Given the description of an element on the screen output the (x, y) to click on. 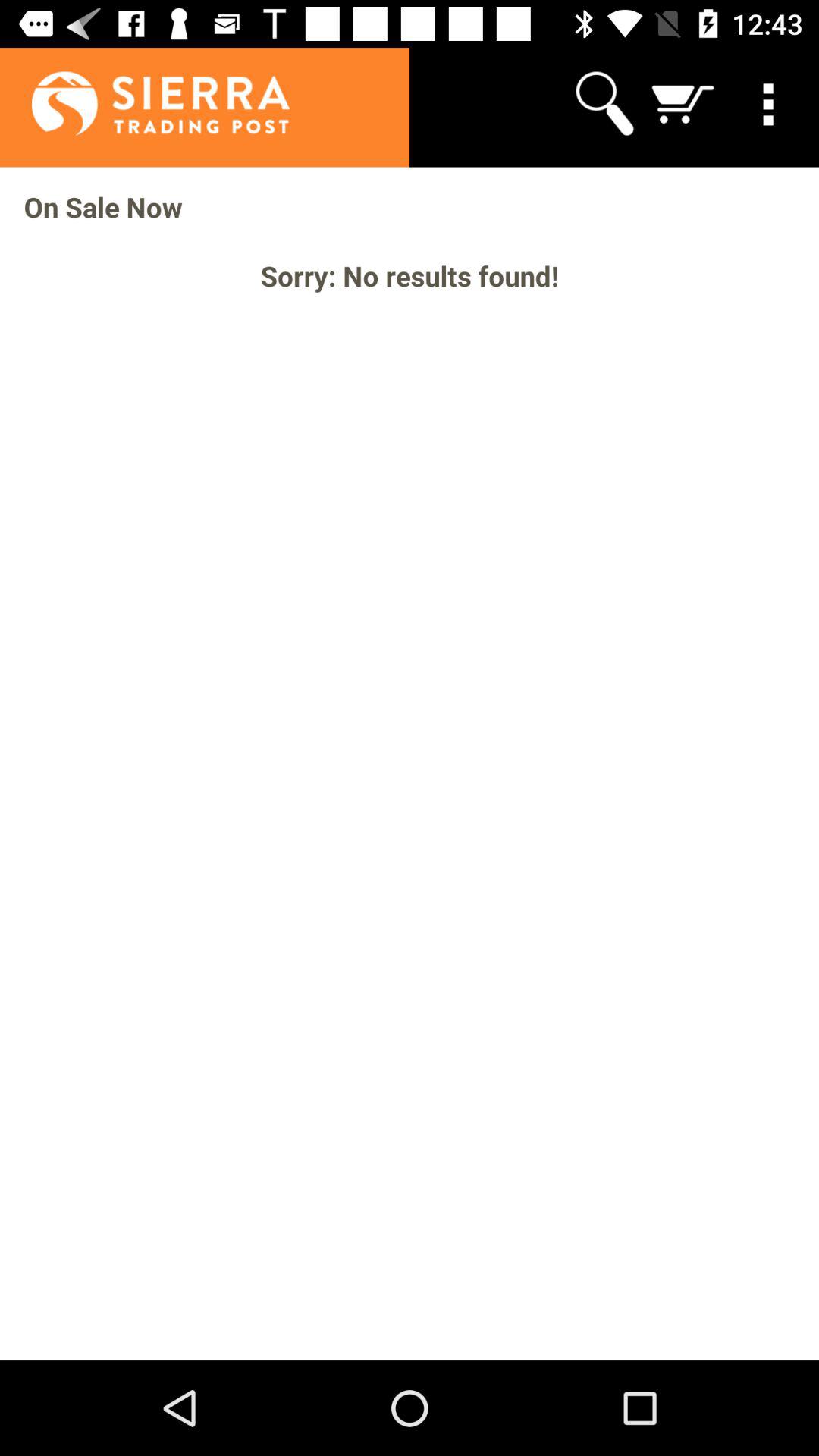
choose the icon at the top left corner (144, 103)
